Given the description of an element on the screen output the (x, y) to click on. 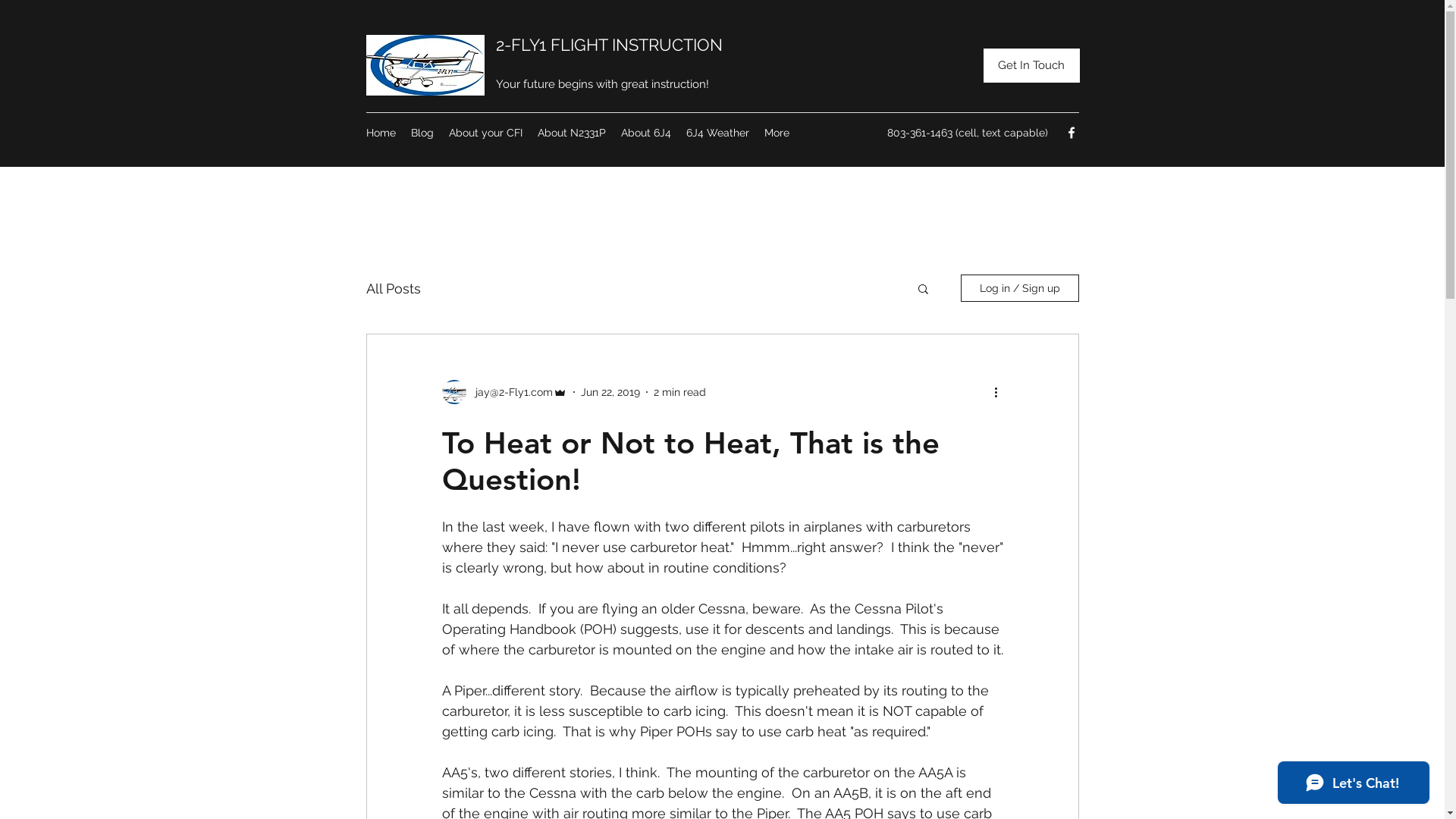
About your CFI Element type: text (485, 132)
Log in / Sign up Element type: text (1019, 287)
Get In Touch Element type: text (1030, 65)
Blog Element type: text (422, 132)
About 6J4 Element type: text (644, 132)
6J4 Weather Element type: text (716, 132)
About N2331P Element type: text (570, 132)
All Posts Element type: text (392, 288)
Home Element type: text (379, 132)
2-FLY1 FLIGHT INSTRUCTION Element type: text (608, 44)
